Given the description of an element on the screen output the (x, y) to click on. 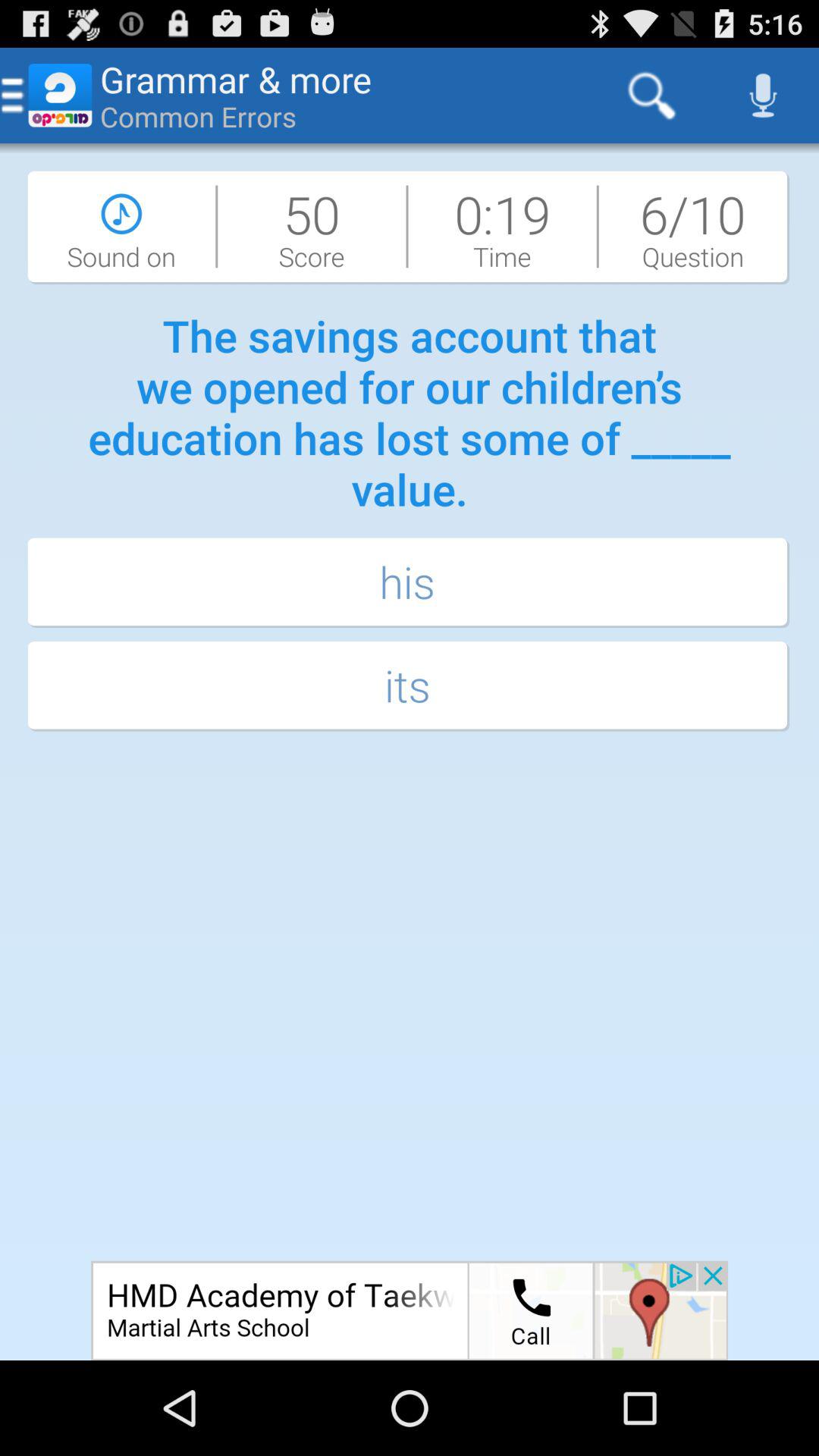
tap item above its (409, 583)
